Given the description of an element on the screen output the (x, y) to click on. 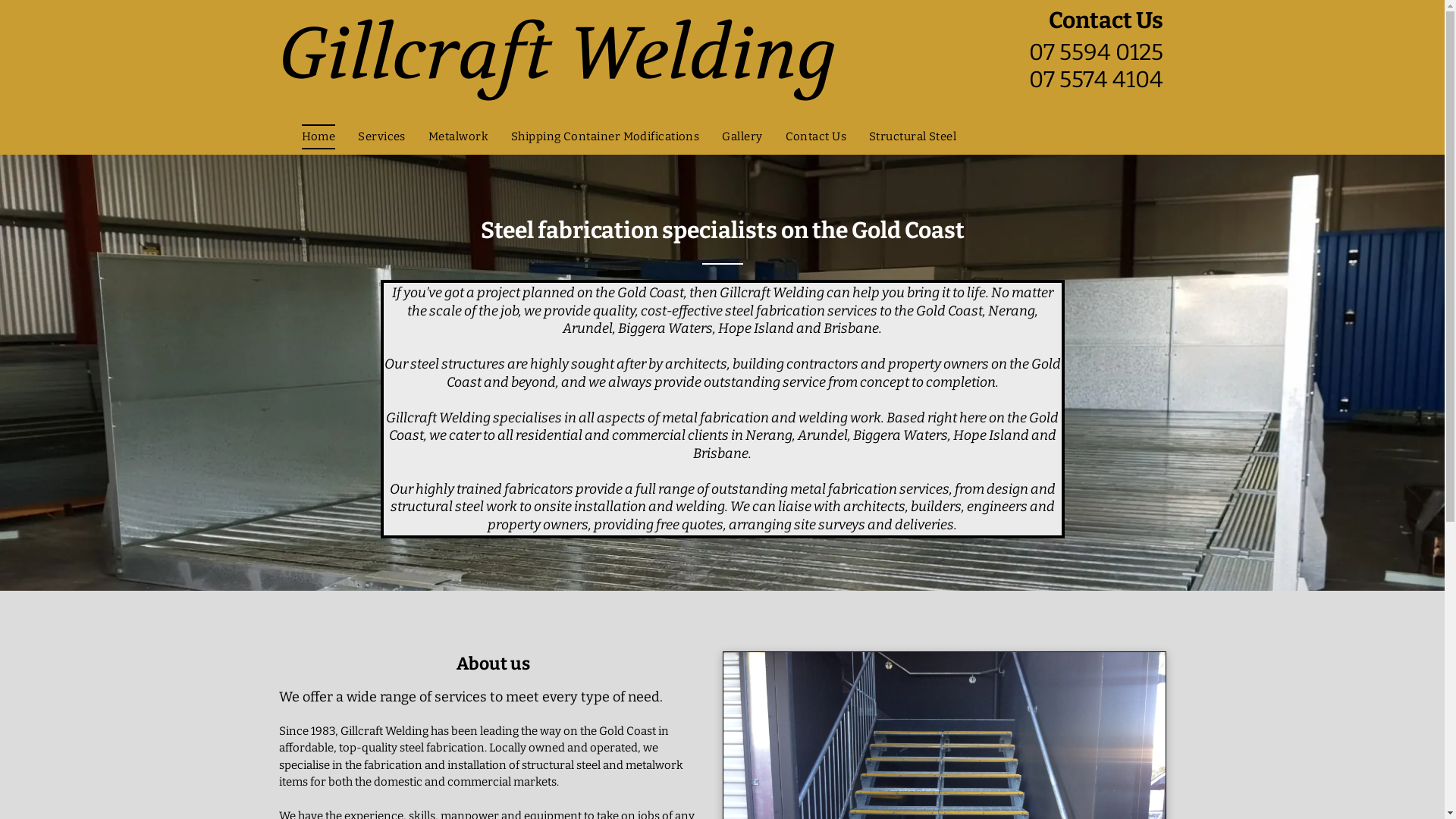
Gallery Element type: text (741, 136)
Home Element type: text (317, 136)
07 5594 0 Element type: text (1079, 54)
Services Element type: text (381, 136)
Contact Us Element type: text (816, 136)
Metalwork Element type: text (458, 136)
Structural Steel Element type: text (912, 136)
Shipping Container Modifications Element type: text (604, 136)
